Given the description of an element on the screen output the (x, y) to click on. 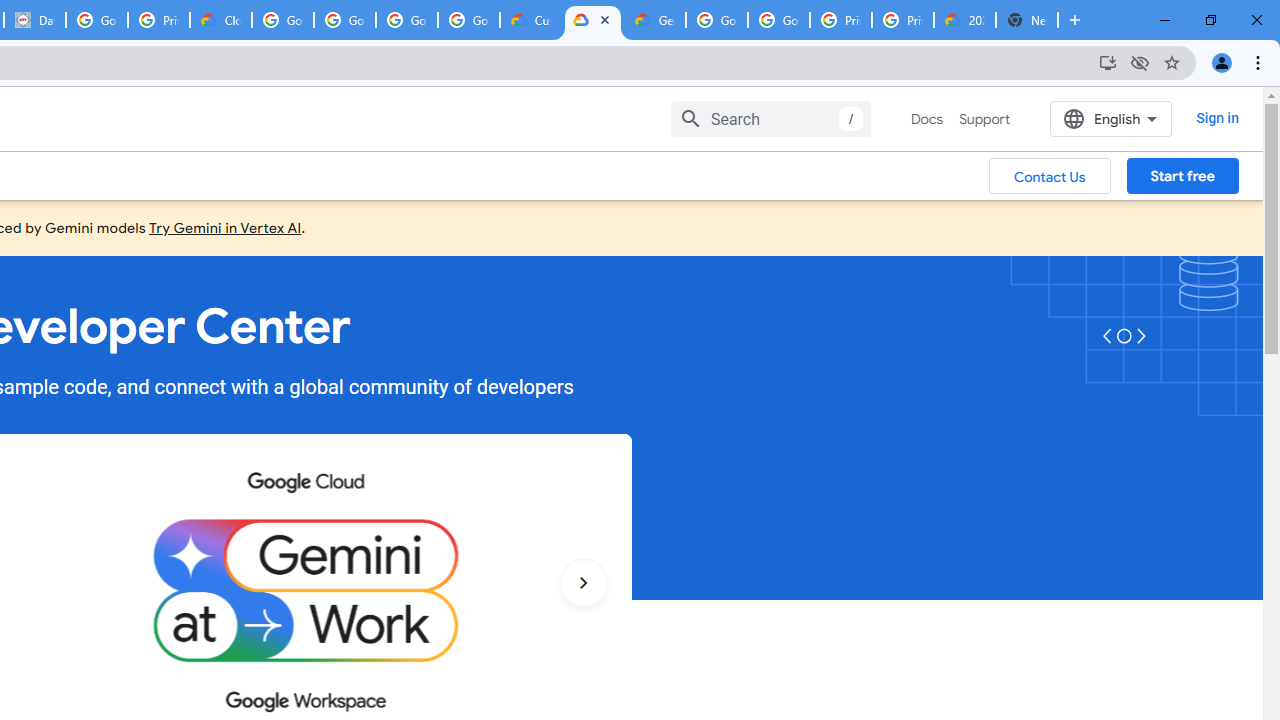
Support (984, 119)
Try Gemini in Vertex AI (225, 227)
Google Workspace - Specific Terms (406, 20)
Start free (1182, 175)
Cloud Data Processing Addendum | Google Cloud (220, 20)
Install Google Cloud (1107, 62)
Google Workspace - Specific Terms (468, 20)
